Given the description of an element on the screen output the (x, y) to click on. 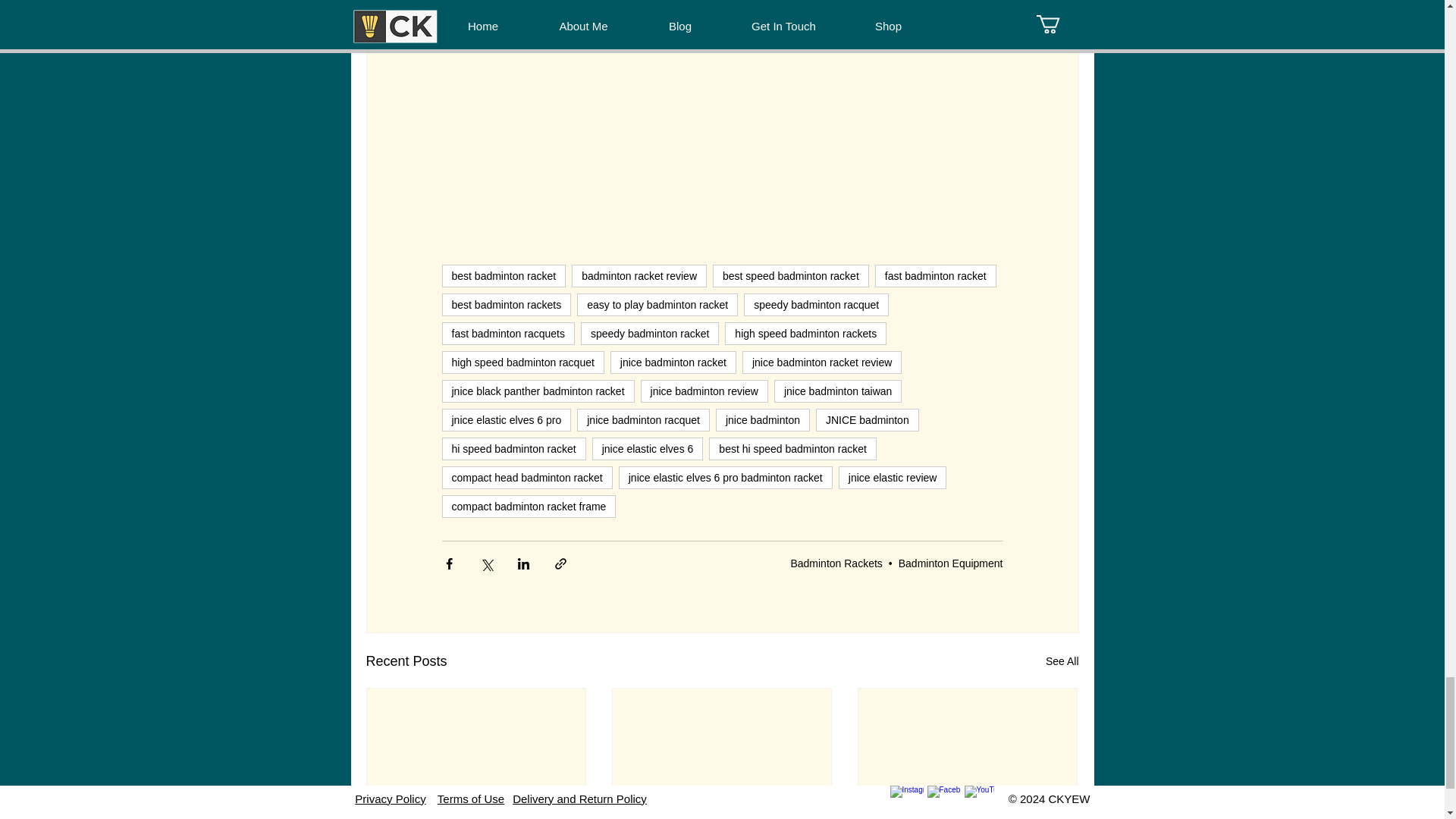
badminton racket review (639, 274)
fast badminton racquets (507, 332)
high speed badminton racquet (522, 361)
speedy badminton racket (649, 332)
high speed badminton rackets (805, 332)
best badminton rackets (505, 303)
speedy badminton racquet (816, 303)
best speed badminton racket (791, 274)
easy to play badminton racket (657, 303)
best badminton racket (503, 274)
fast badminton racket (935, 274)
